Given the description of an element on the screen output the (x, y) to click on. 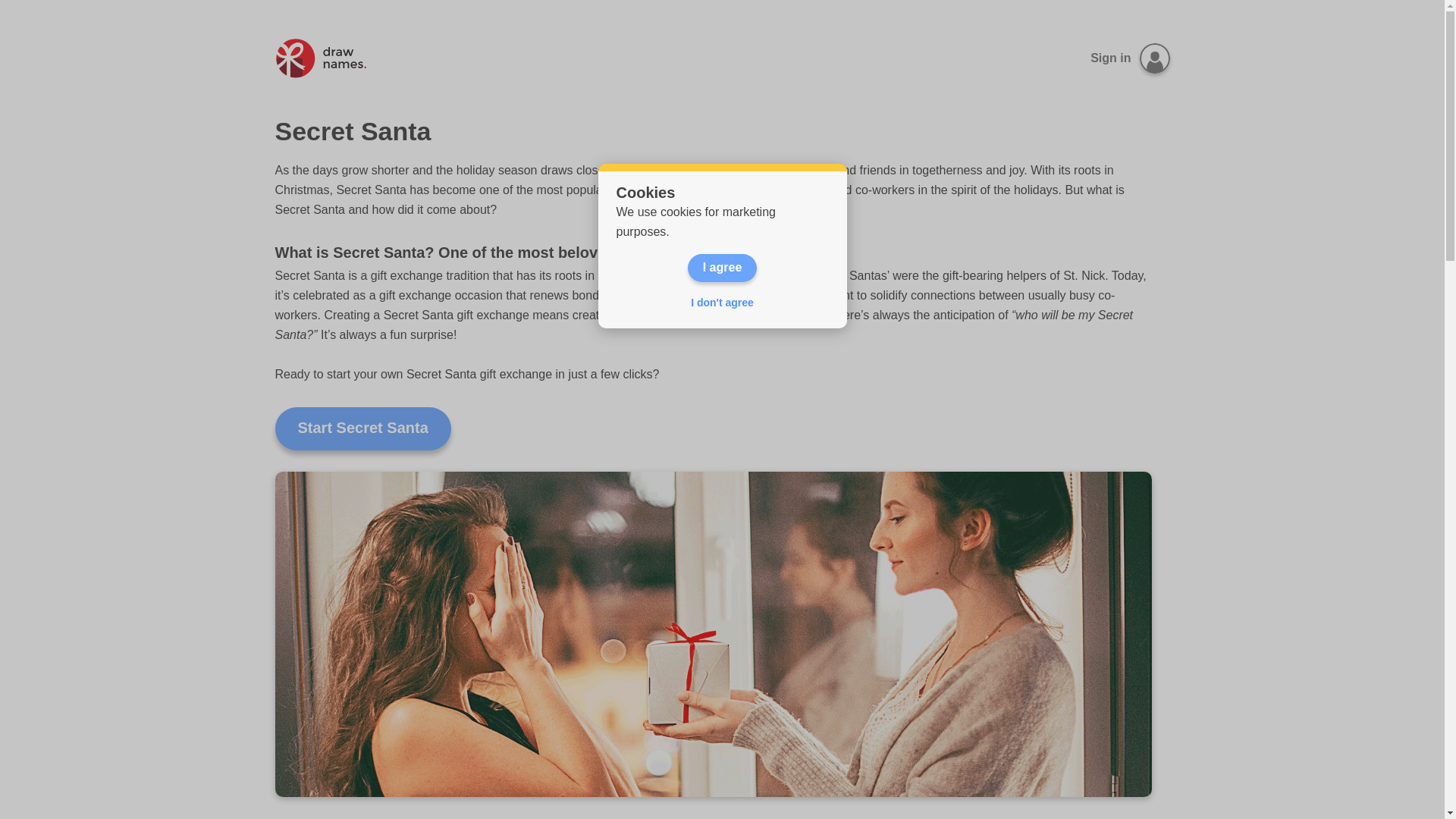
I don't agree (721, 302)
I agree (722, 267)
Start Secret Santa (362, 428)
